Given the description of an element on the screen output the (x, y) to click on. 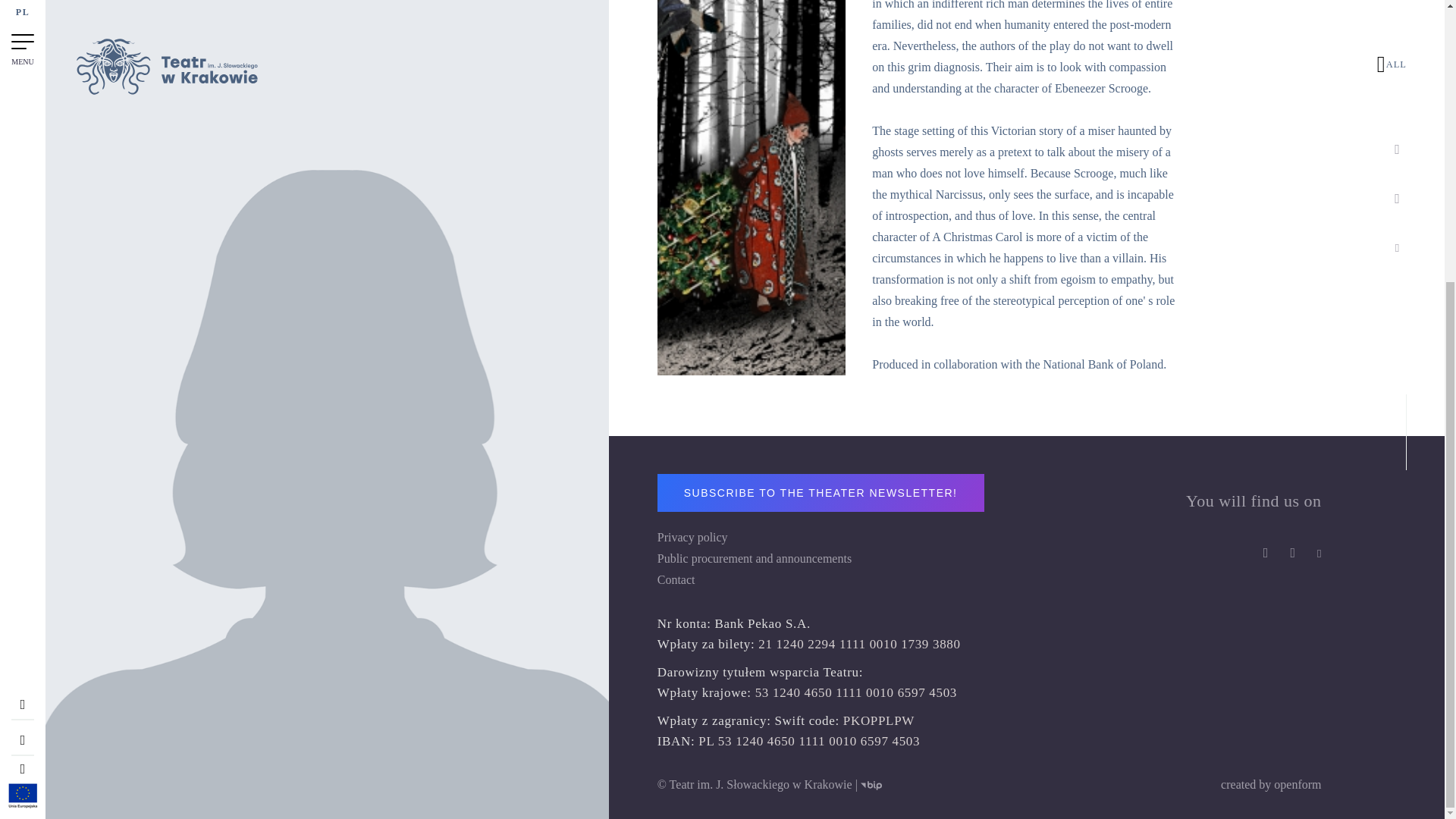
Youtube (1316, 553)
Search (22, 349)
Instagram (1290, 553)
Facebook (1263, 553)
